Given the description of an element on the screen output the (x, y) to click on. 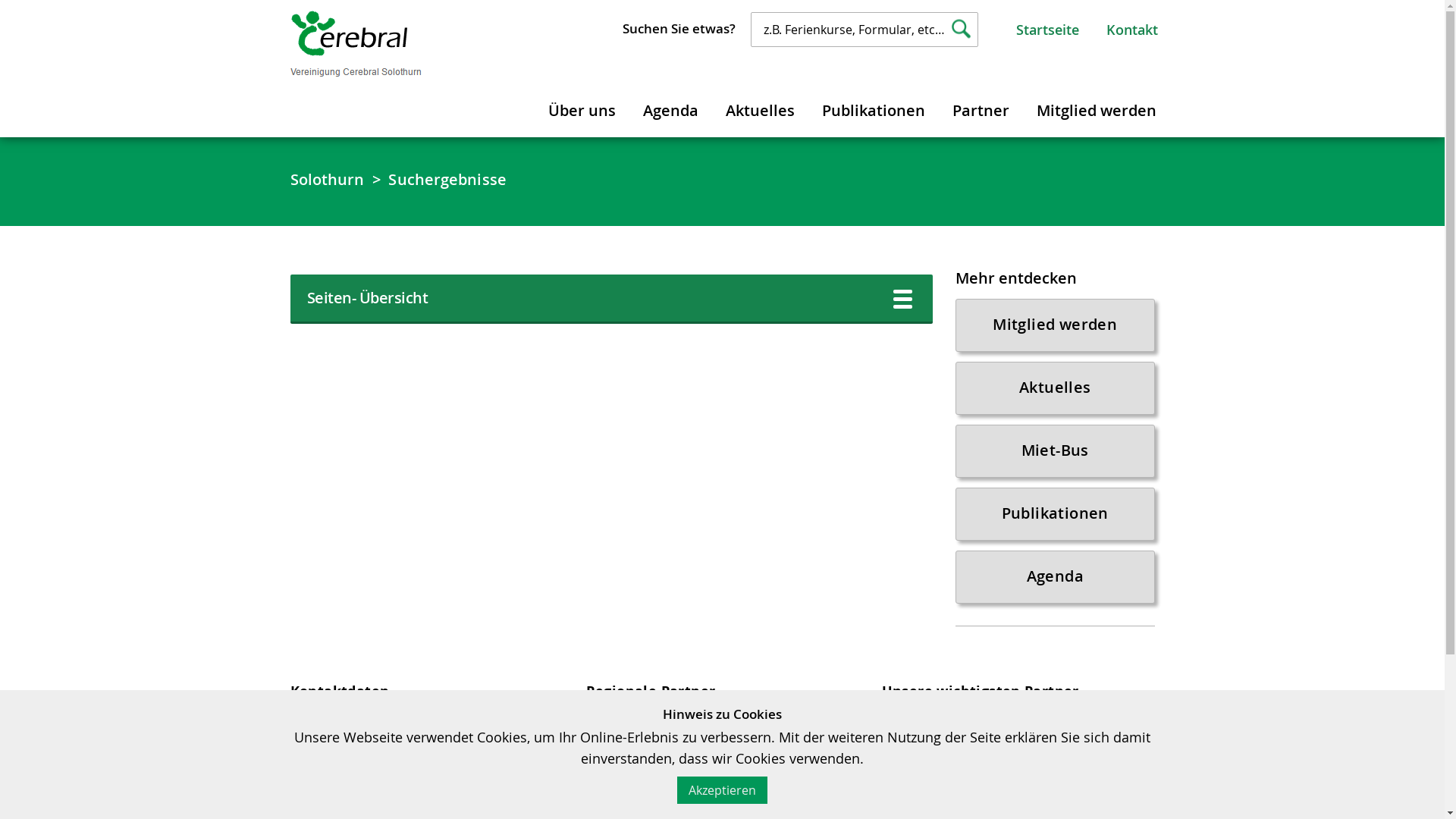
Partner Element type: text (979, 107)
Publikationen Element type: text (1054, 513)
Aktuelles Element type: text (1054, 387)
Aktuelles Element type: text (759, 107)
Agenda Element type: text (669, 107)
Publikationen Element type: text (872, 107)
Agenda Element type: text (1054, 576)
Kontakt Element type: text (1131, 29)
Solothurn Element type: text (326, 179)
Miet-Bus Element type: text (1054, 450)
Mitglied werden Element type: text (1096, 107)
Mitglied werden Element type: text (1054, 324)
Suchergebnisse Element type: text (446, 179)
Akzeptieren Element type: text (722, 789)
Startseite Element type: text (1047, 29)
